Given the description of an element on the screen output the (x, y) to click on. 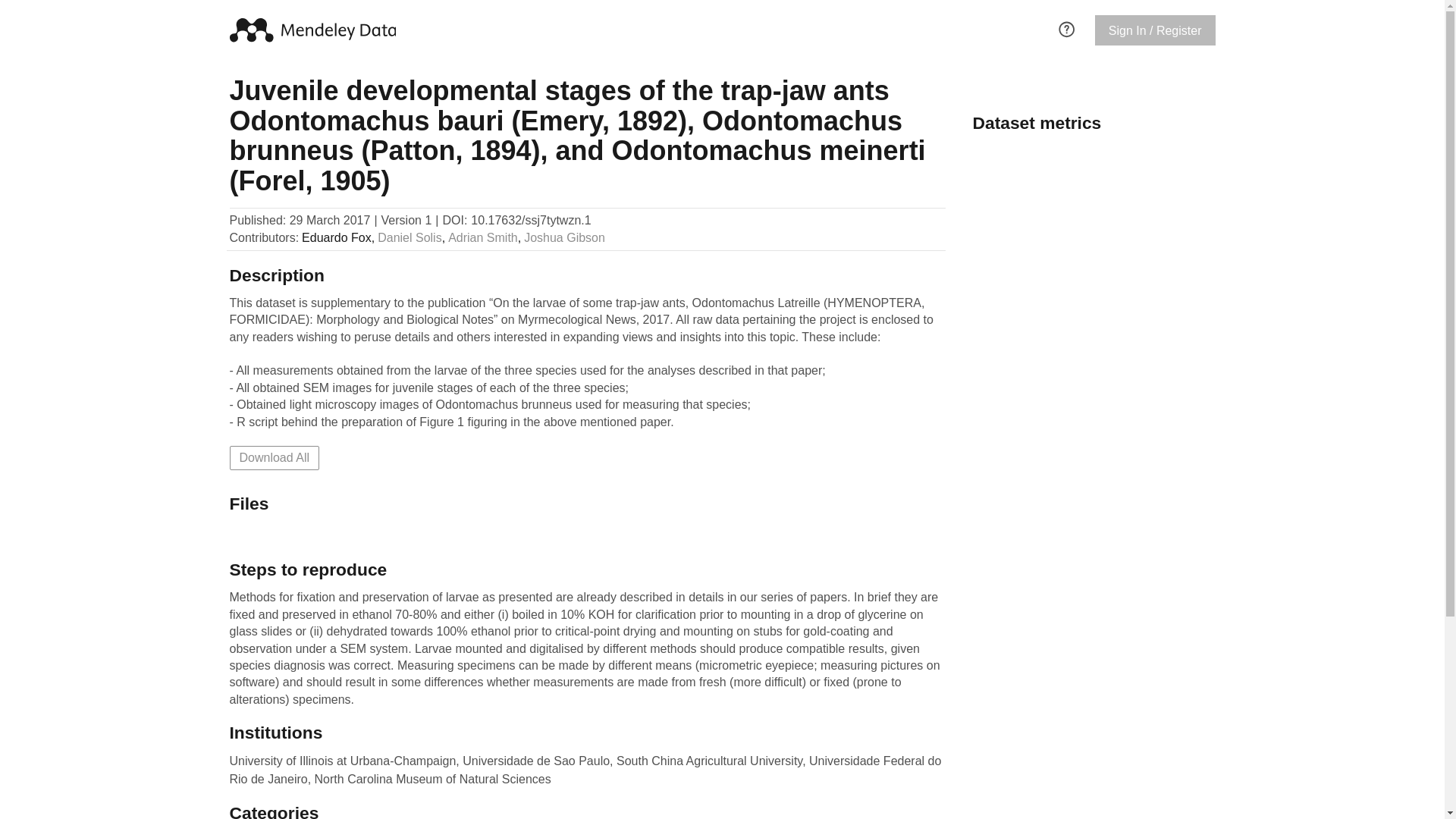
FAQ (1066, 27)
Joshua Gibson (564, 238)
Download All (273, 457)
Adrian Smith (483, 238)
Daniel Solis (409, 238)
